Given the description of an element on the screen output the (x, y) to click on. 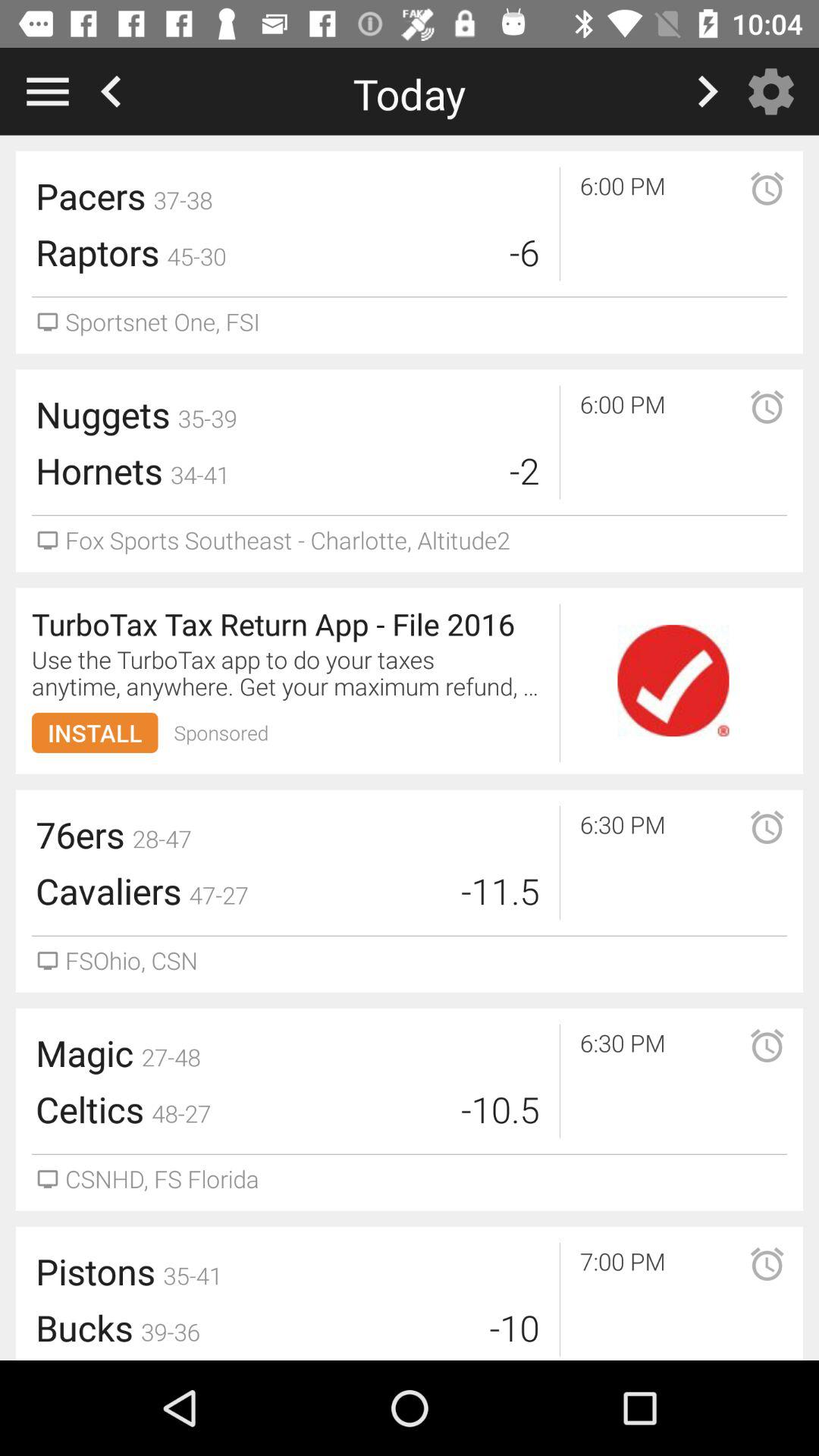
flip to sponsored item (221, 732)
